Given the description of an element on the screen output the (x, y) to click on. 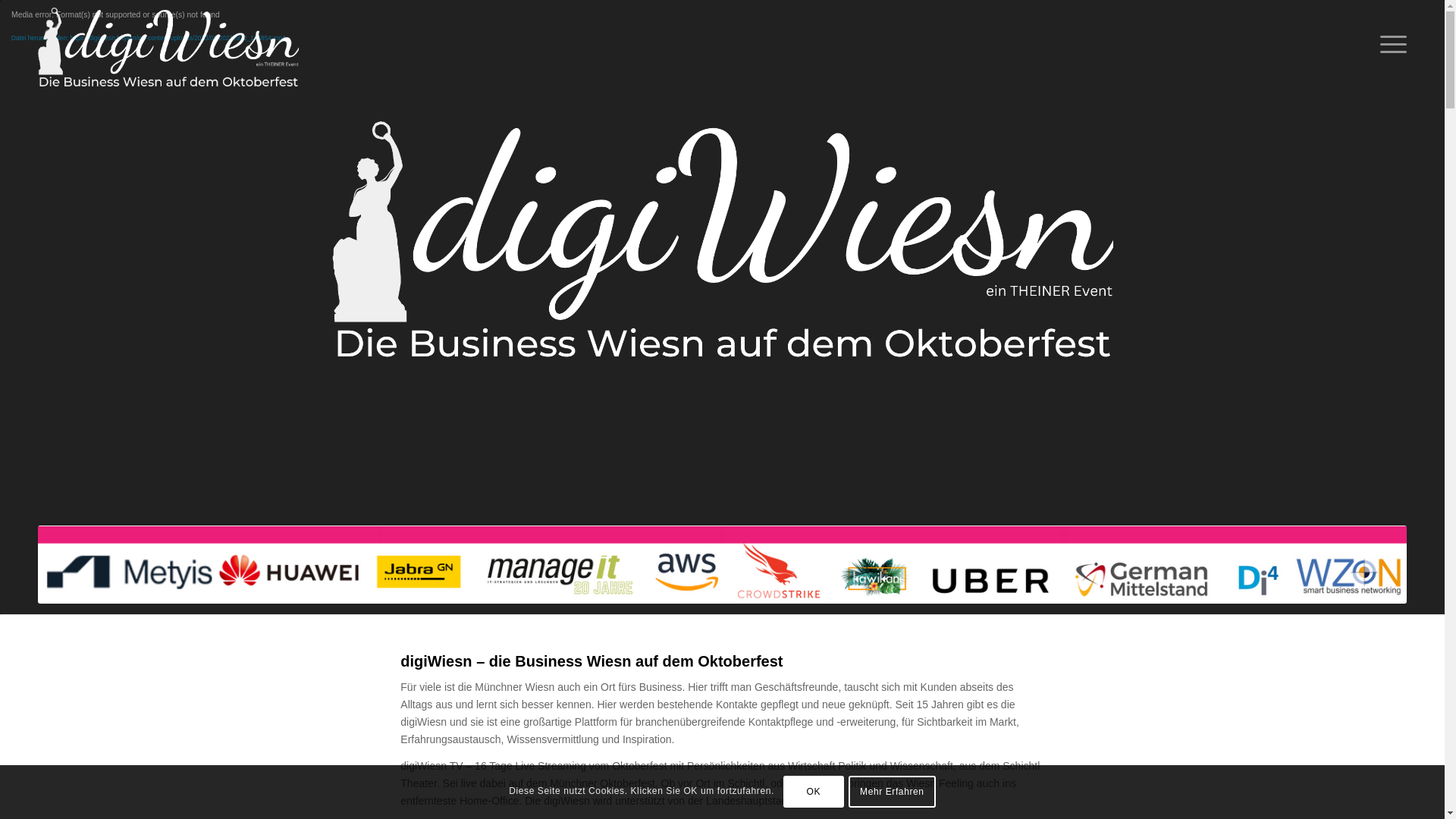
OK Element type: text (813, 791)
Kopie von Kopie von doro_dw_new_no1 digiWiesn (2) Element type: hover (721, 563)
Mehr Erfahren Element type: text (891, 791)
Blasmusik Bierzelt & Business (2) Element type: hover (722, 232)
